Given the description of an element on the screen output the (x, y) to click on. 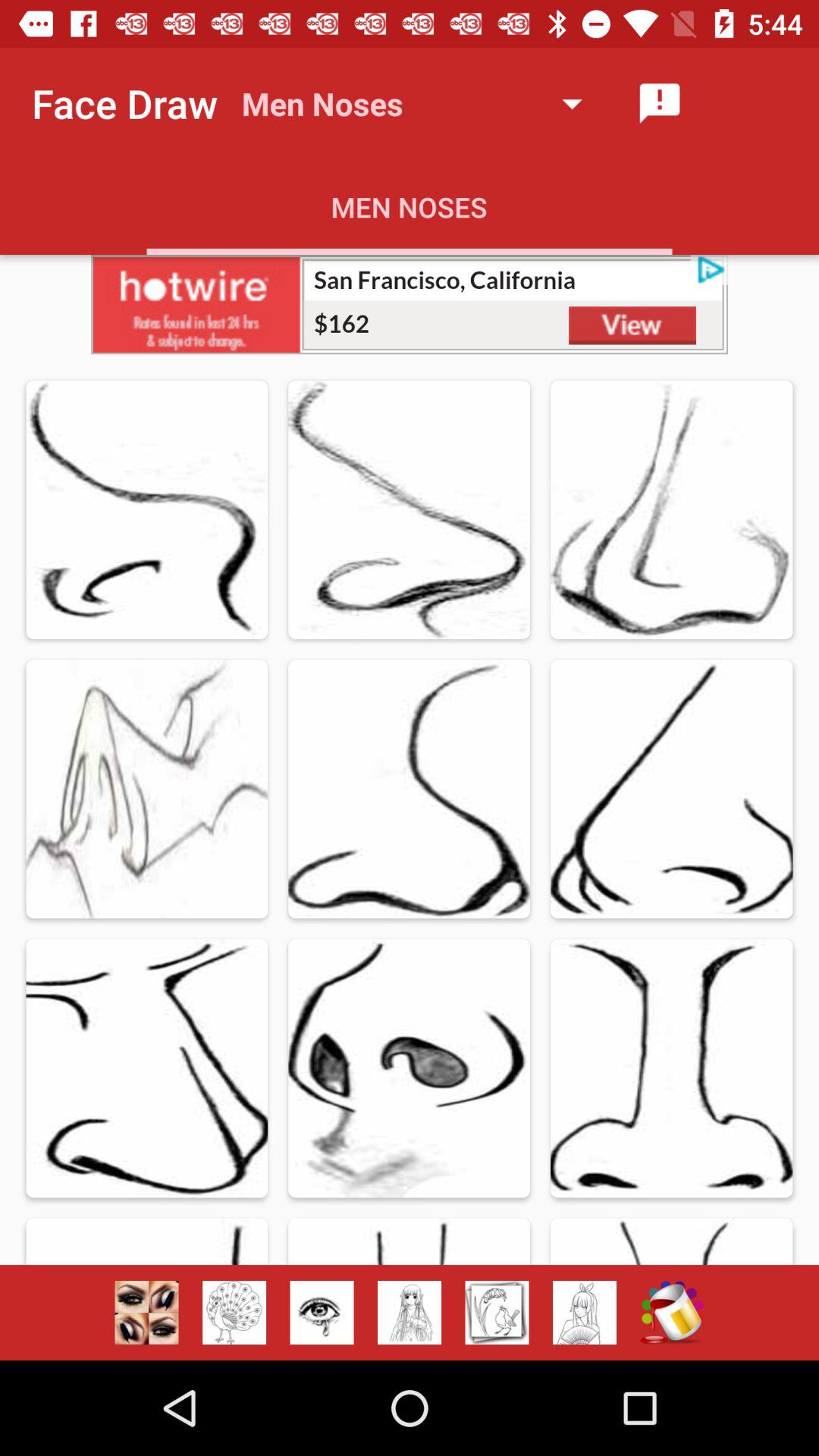
choose next category (496, 1312)
